Given the description of an element on the screen output the (x, y) to click on. 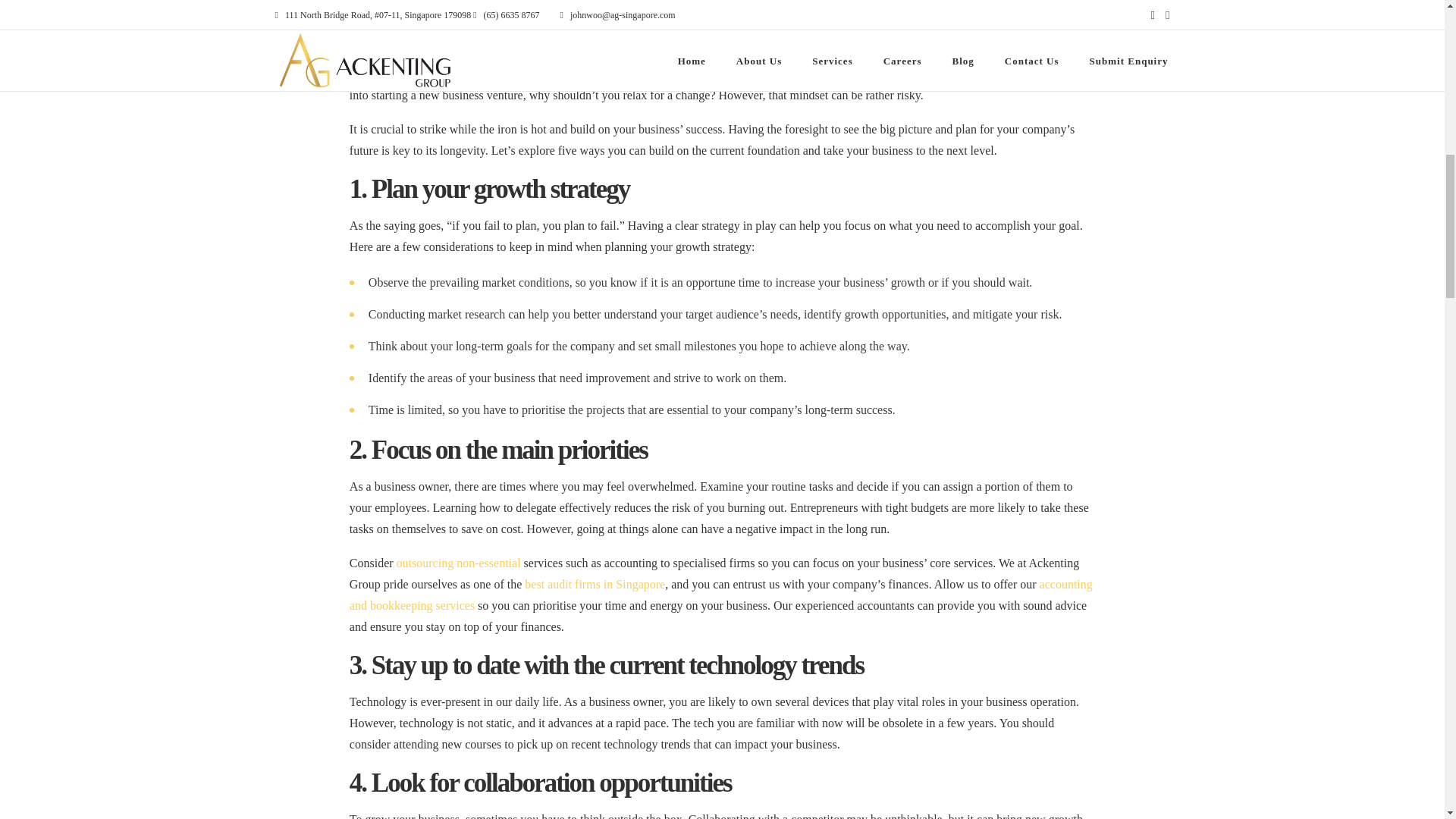
Best Audit Firm Singapore, Audit Firm In Singapore (594, 584)
best audit firms in Singapore (594, 584)
accounting and bookkeeping services (721, 594)
outsourcing non-essential (458, 562)
4 Accounting Services Your Small Business Can Outsource (458, 562)
